Given the description of an element on the screen output the (x, y) to click on. 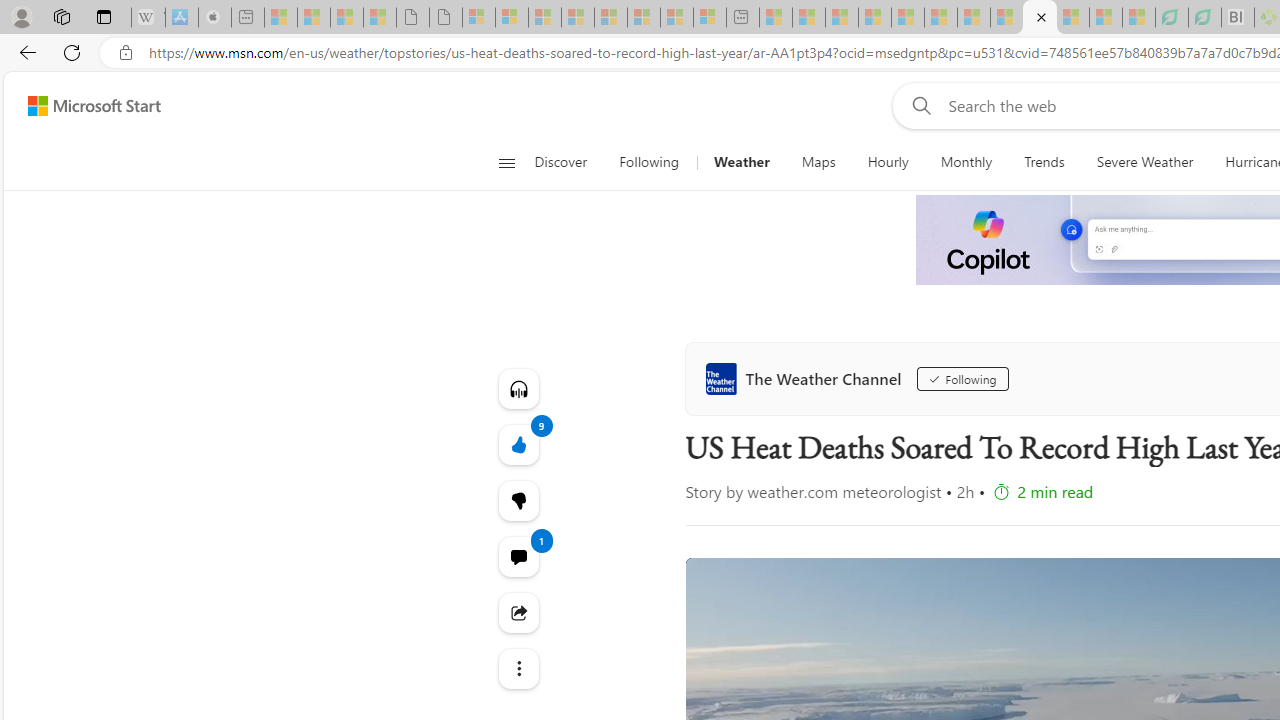
Weather (741, 162)
Class: at-item (517, 668)
Class: button-glyph (505, 162)
